Given the description of an element on the screen output the (x, y) to click on. 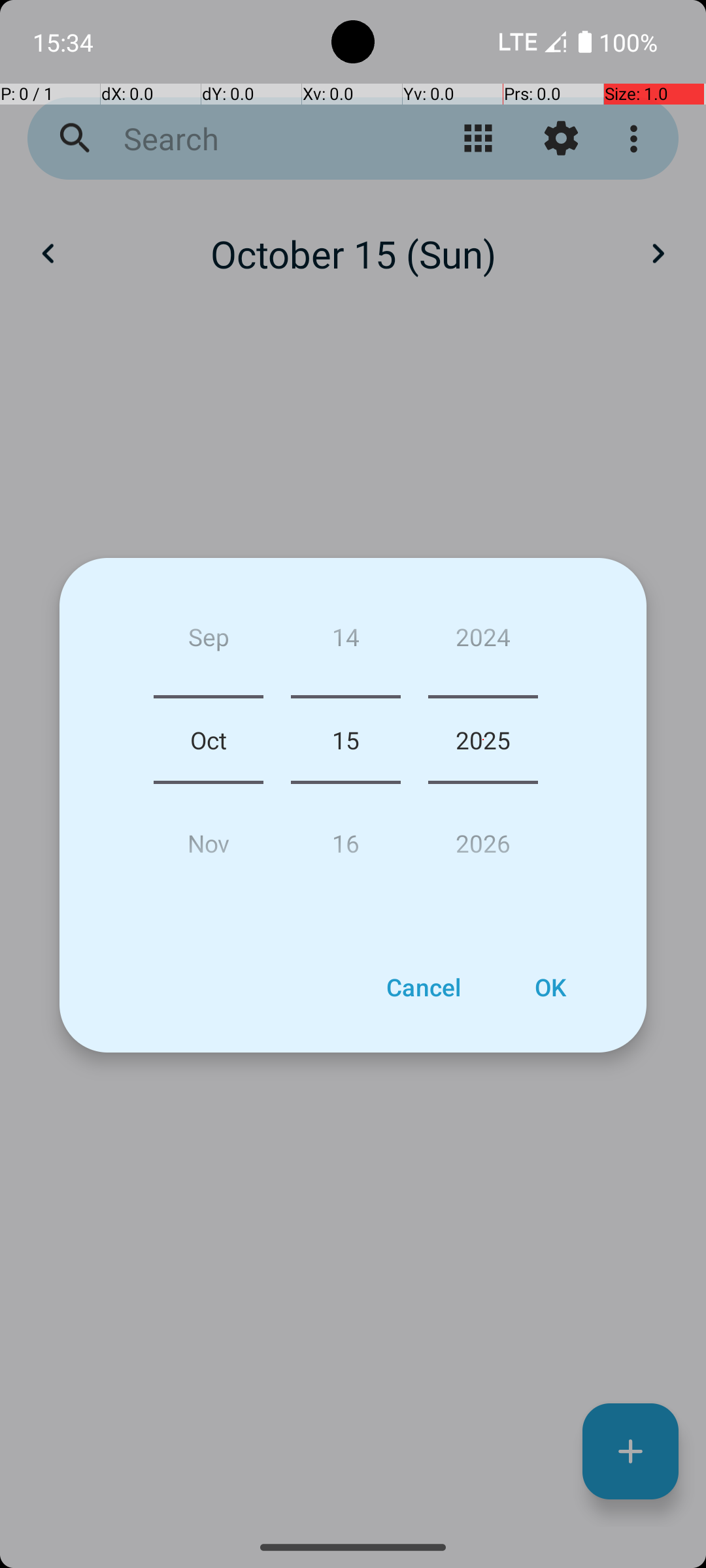
2026 Element type: android.widget.Button (482, 837)
